Given the description of an element on the screen output the (x, y) to click on. 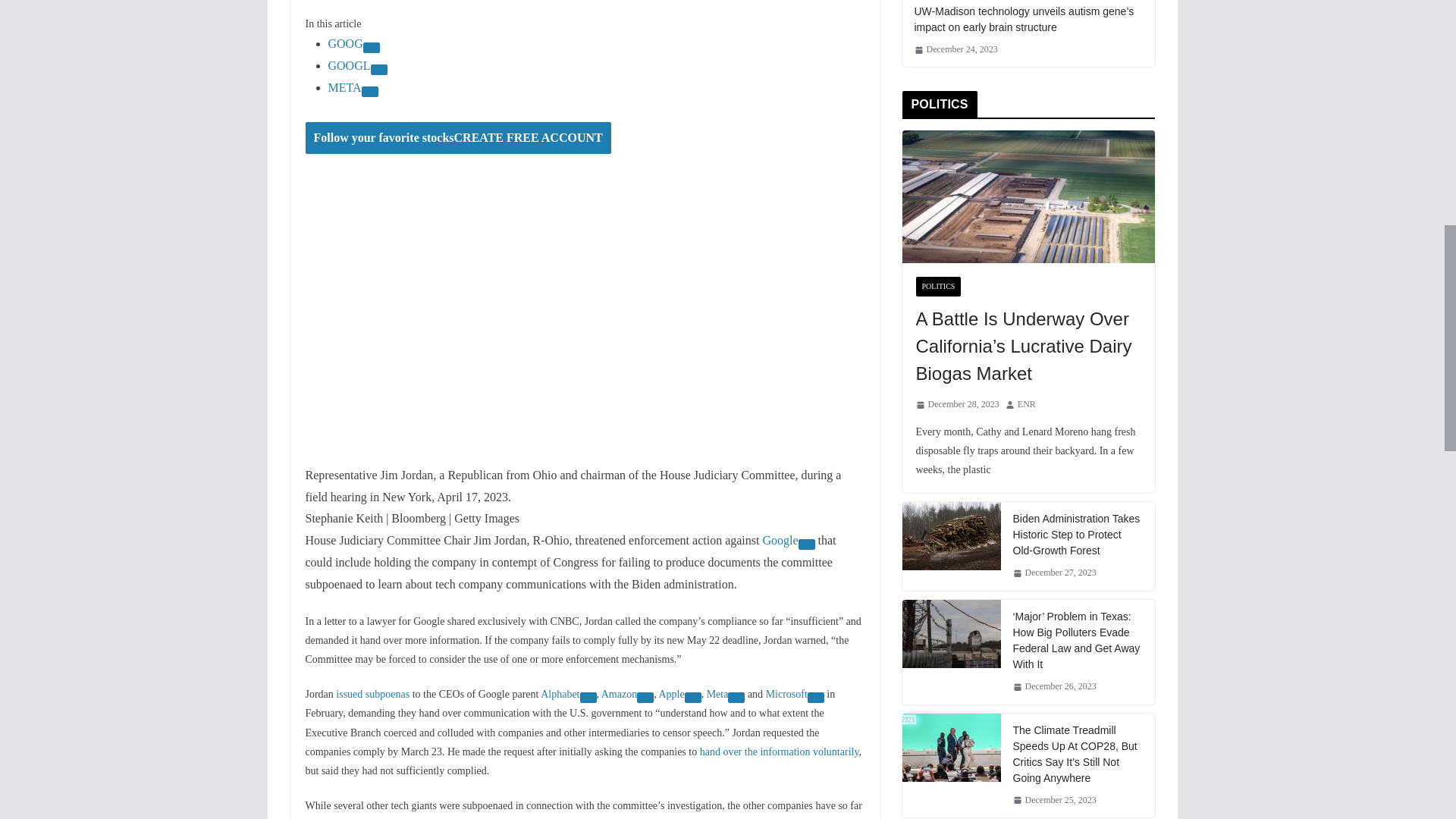
Follow your favorite stocksCREATE FREE ACCOUNT (457, 138)
META (344, 87)
issued subpoenas (372, 694)
GOOGL (348, 65)
Google (779, 540)
Alphabet (559, 694)
GOOG (344, 42)
